Given the description of an element on the screen output the (x, y) to click on. 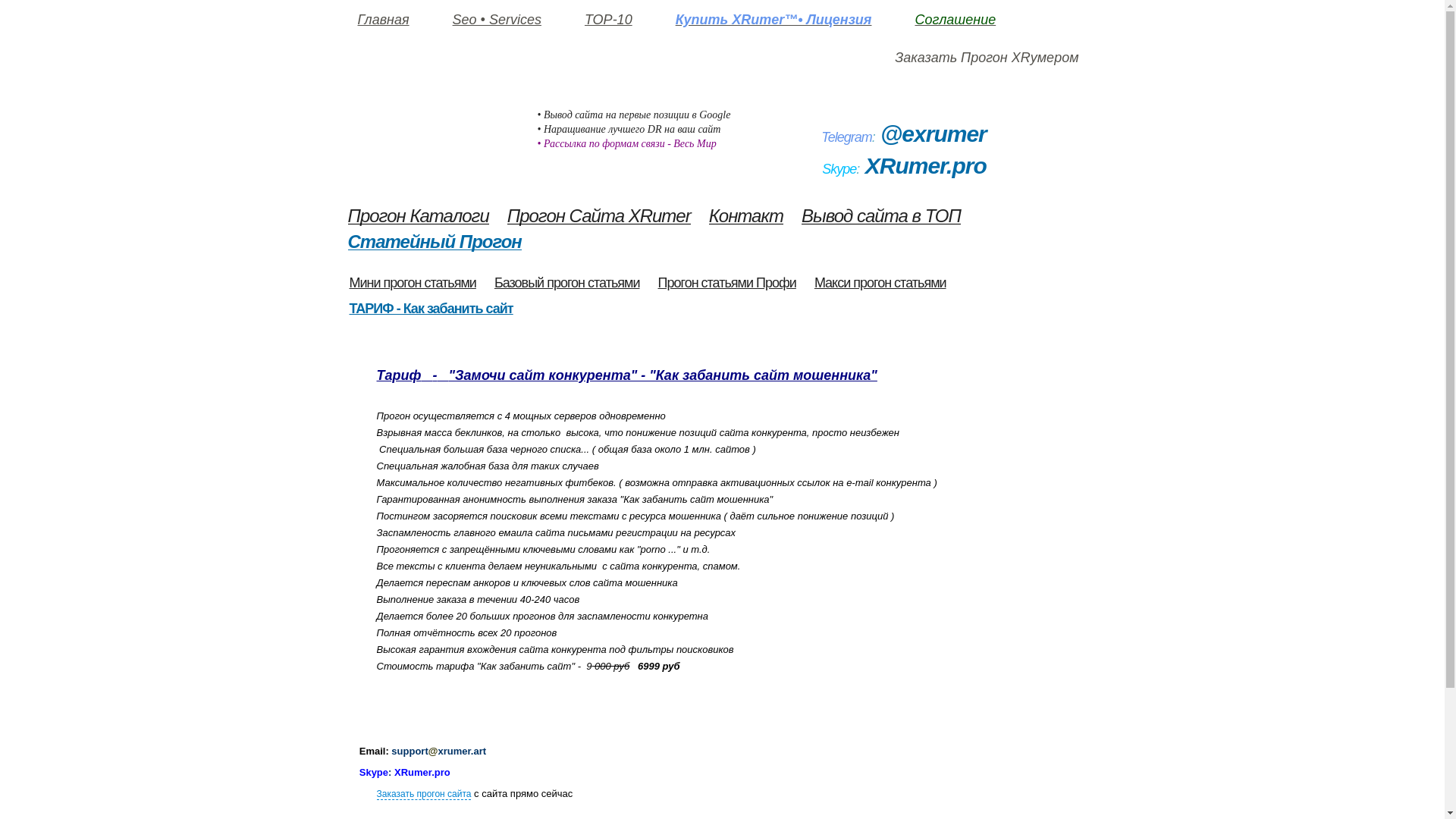
TOP-10 Element type: text (608, 20)
